Given the description of an element on the screen output the (x, y) to click on. 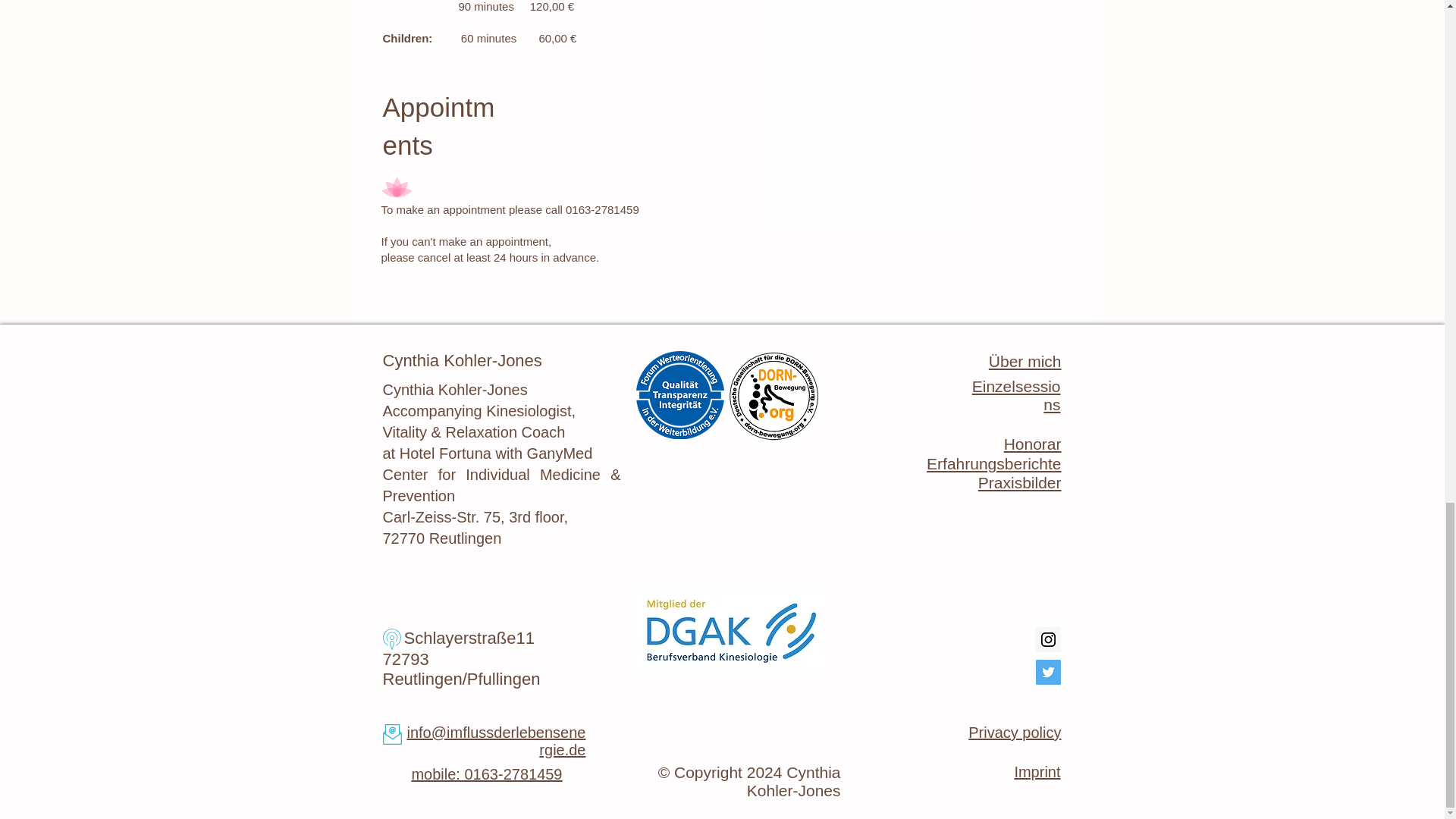
Honorar (1032, 443)
Erfahrungsberichte (993, 463)
Praxisbilder (1019, 482)
Einzelsessions (1016, 395)
